Given the description of an element on the screen output the (x, y) to click on. 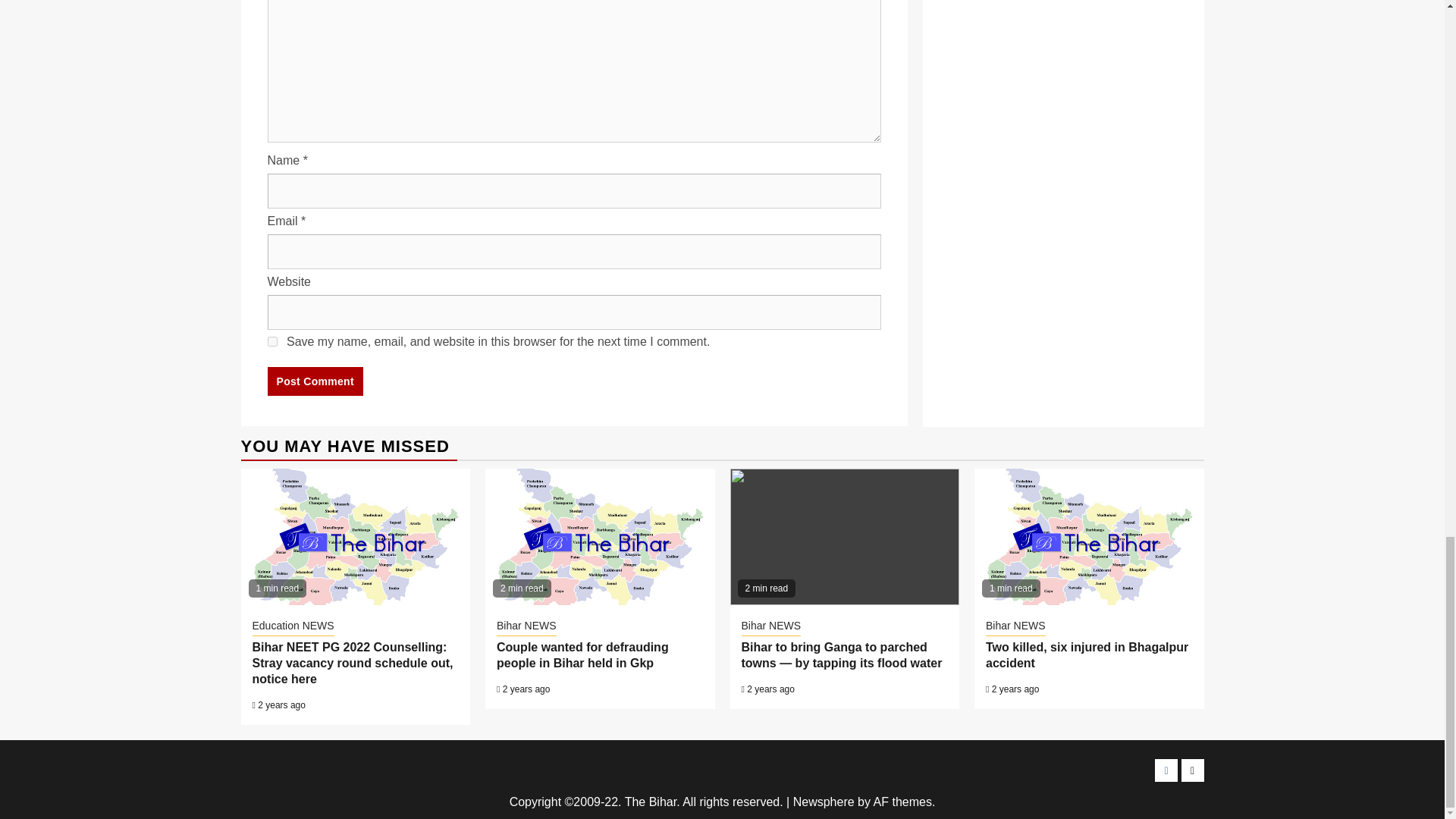
Post Comment (314, 380)
yes (271, 341)
